Given the description of an element on the screen output the (x, y) to click on. 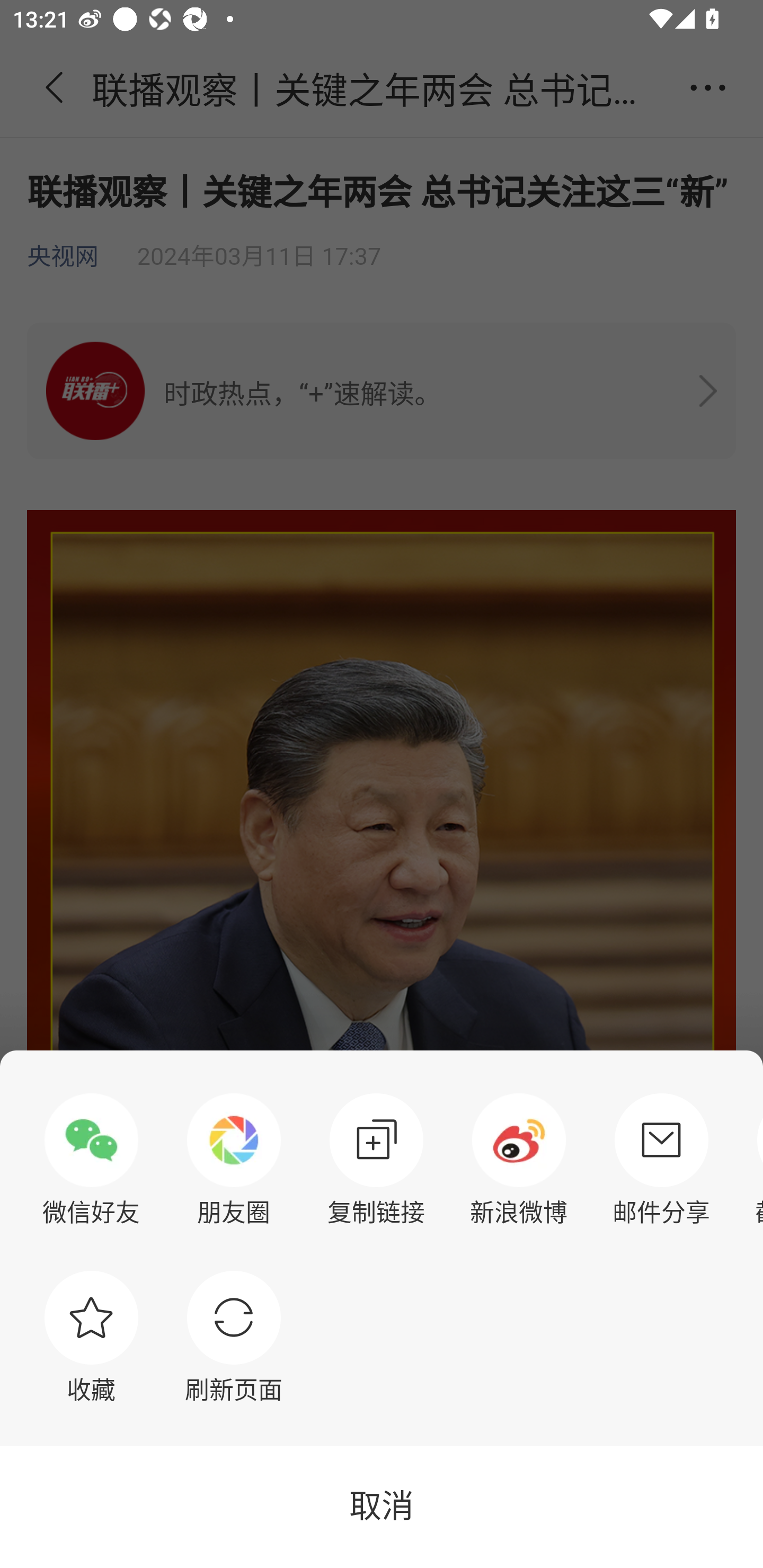
微信好友 (90, 1159)
朋友圈 (233, 1159)
 复制链接 复制链接 (376, 1159)
新浪微博 (518, 1159)
 邮件分享 邮件分享 (661, 1159)
 收藏 收藏 (90, 1337)
 刷新页面 刷新页面 (233, 1337)
取消 (381, 1506)
